Given the description of an element on the screen output the (x, y) to click on. 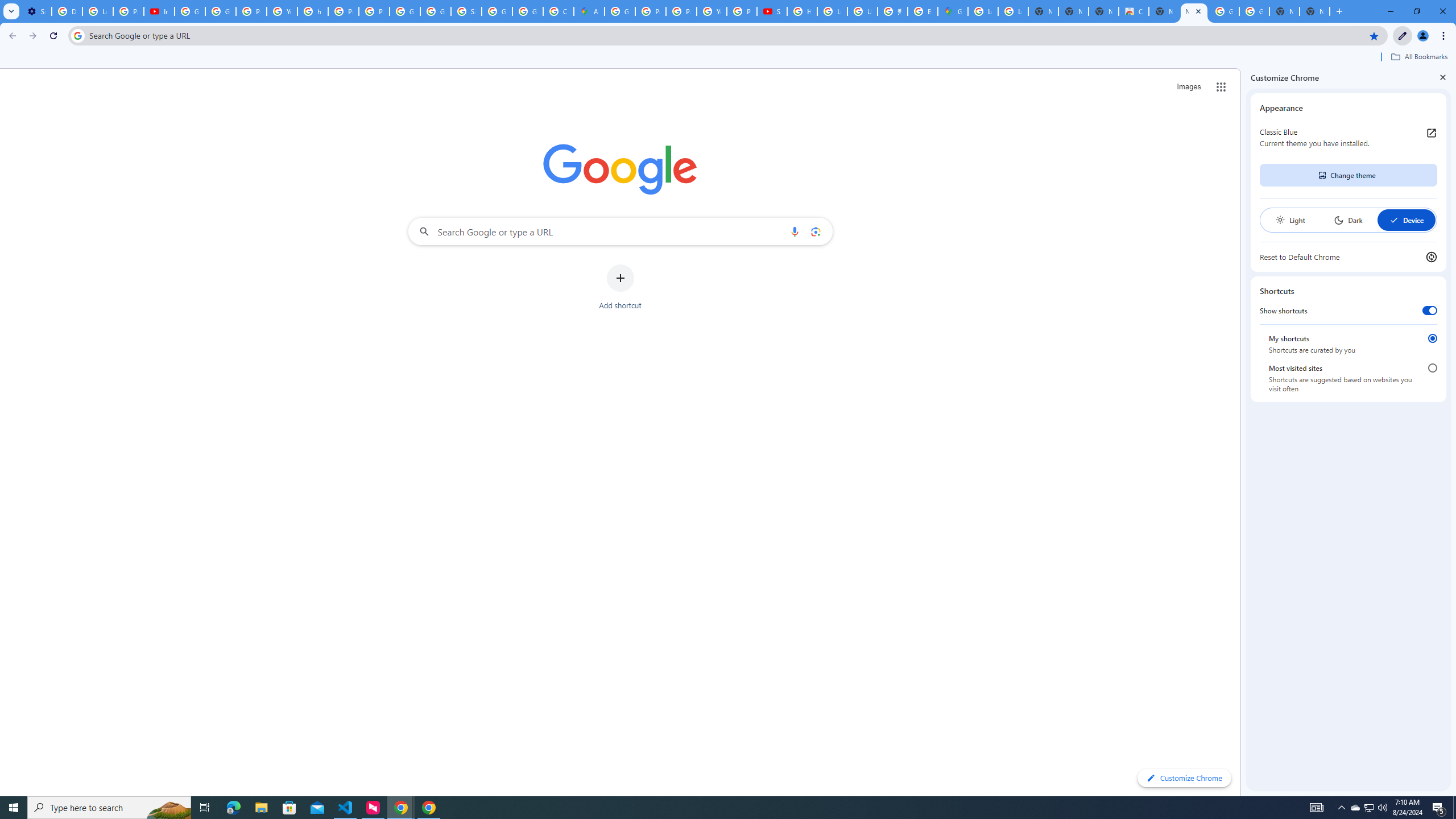
How Chrome protects your passwords - Google Chrome Help (801, 11)
Search by voice (794, 230)
Introduction | Google Privacy Policy - YouTube (158, 11)
Most visited sites (1432, 367)
YouTube (282, 11)
Side Panel Resize Handle (1242, 431)
Classic Blue Current theme you have installed. (1347, 137)
Reset to Default Chrome (1347, 256)
Search for Images  (1188, 87)
